Given the description of an element on the screen output the (x, y) to click on. 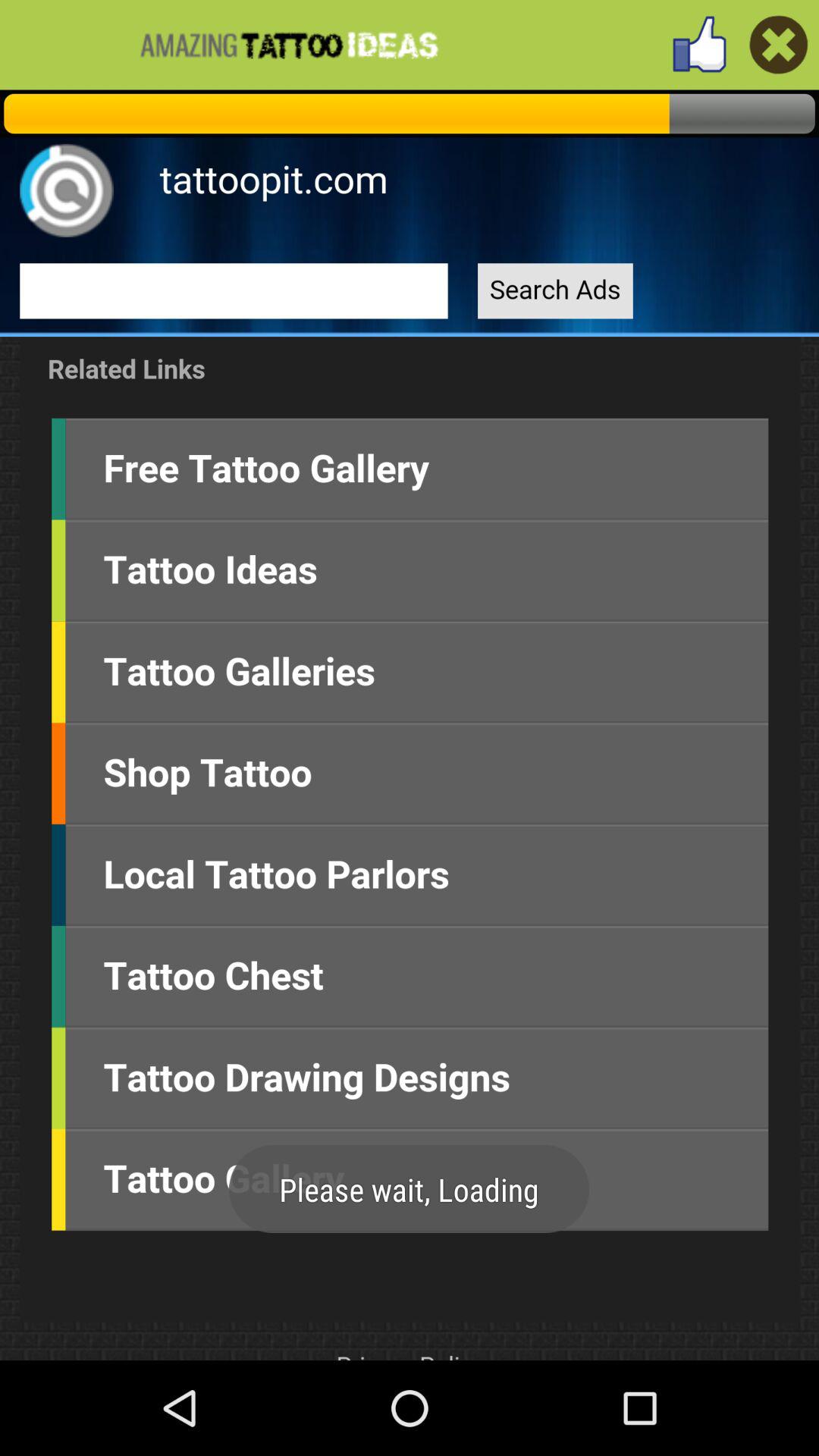
press like (699, 44)
